Given the description of an element on the screen output the (x, y) to click on. 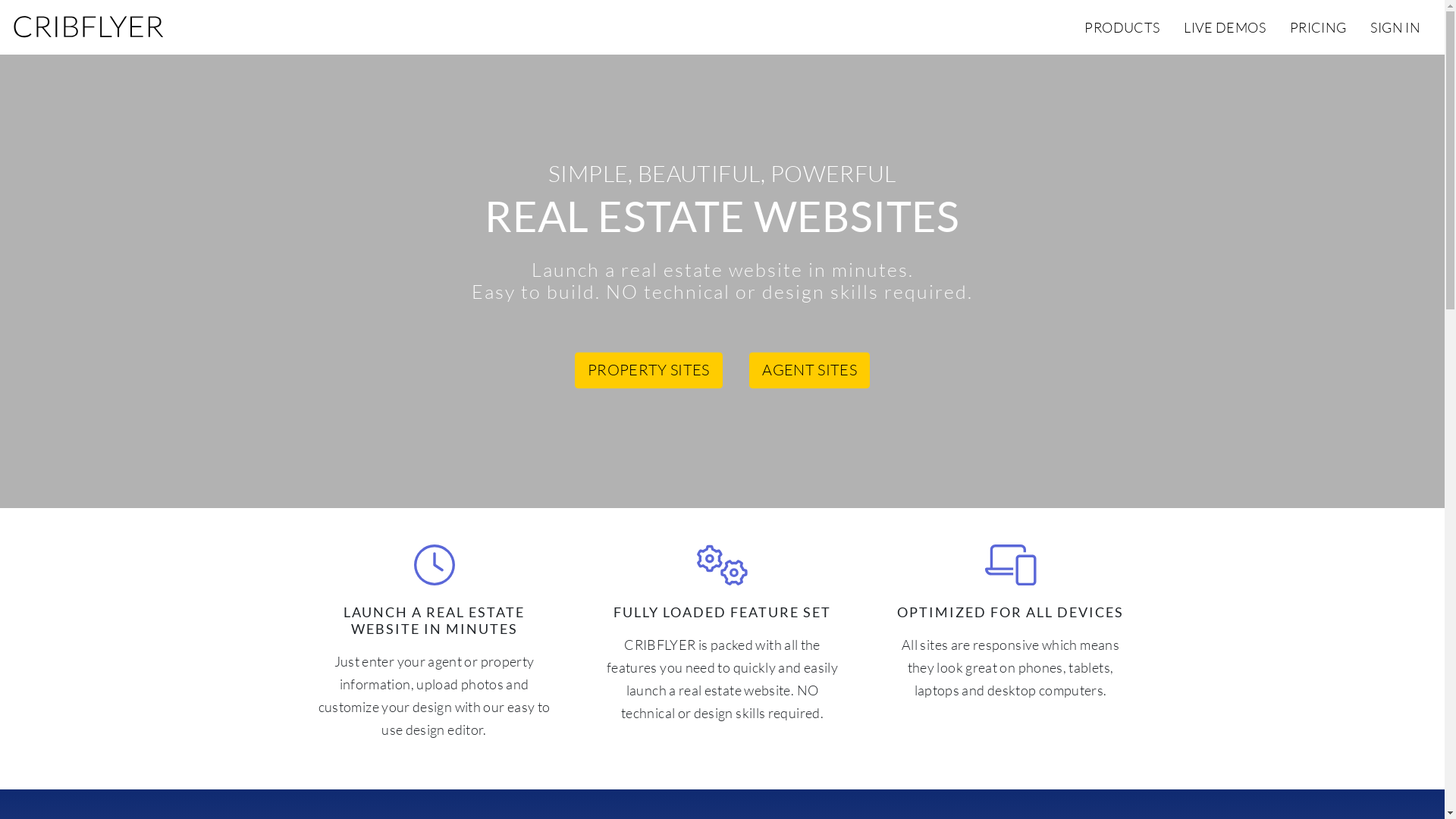
AGENT SITES Element type: text (809, 370)
PROPERTY SITES Element type: text (648, 370)
LIVE DEMOS Element type: text (1224, 27)
PRODUCTS Element type: text (1121, 27)
PRICING Element type: text (1317, 27)
SIGN IN Element type: text (1395, 27)
